Given the description of an element on the screen output the (x, y) to click on. 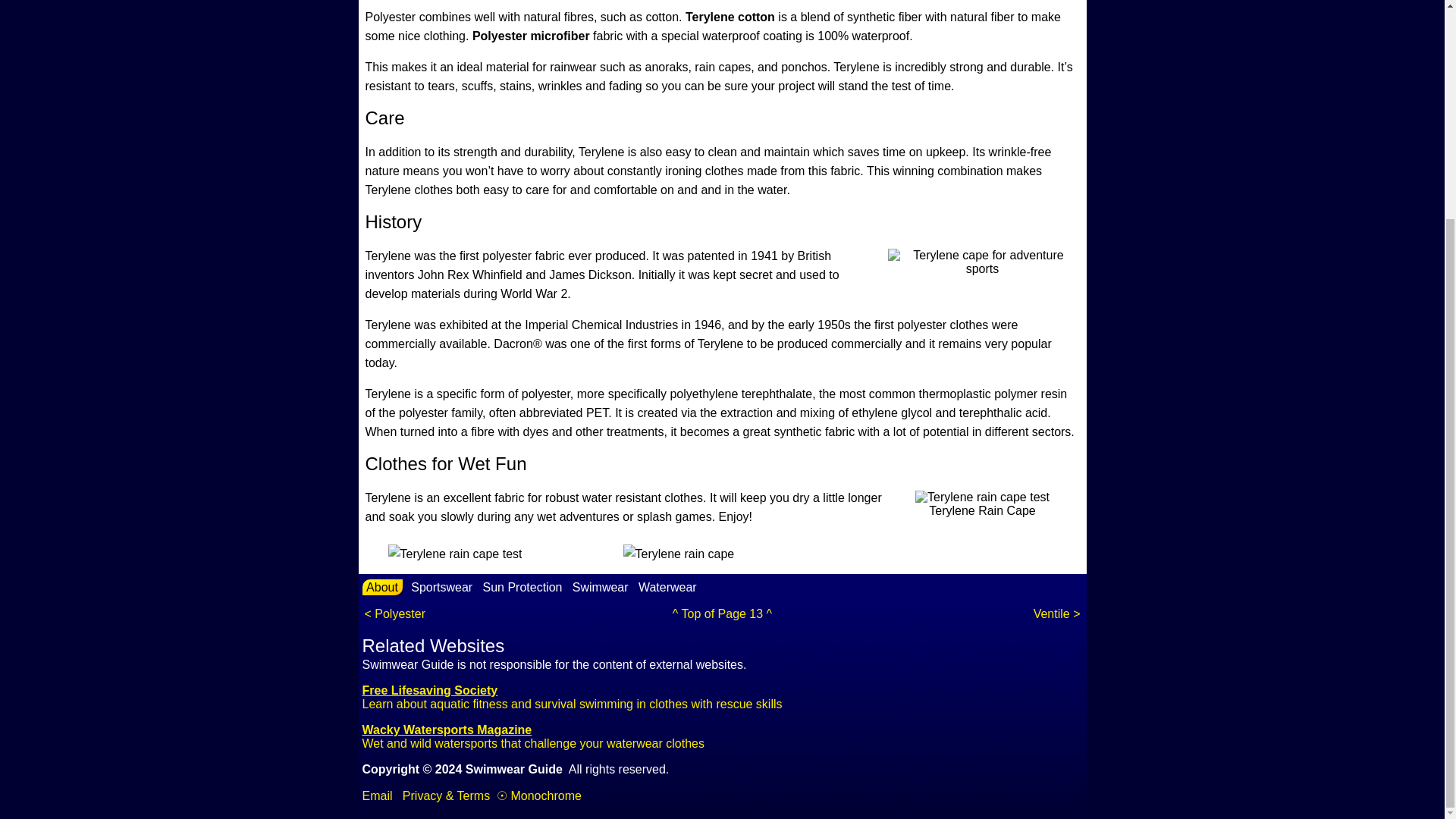
 Sportswear  (441, 586)
 Sun Protection  (522, 586)
 Waterwear  (667, 586)
 About  (382, 587)
Email (377, 795)
 Swimwear  (600, 586)
